Given the description of an element on the screen output the (x, y) to click on. 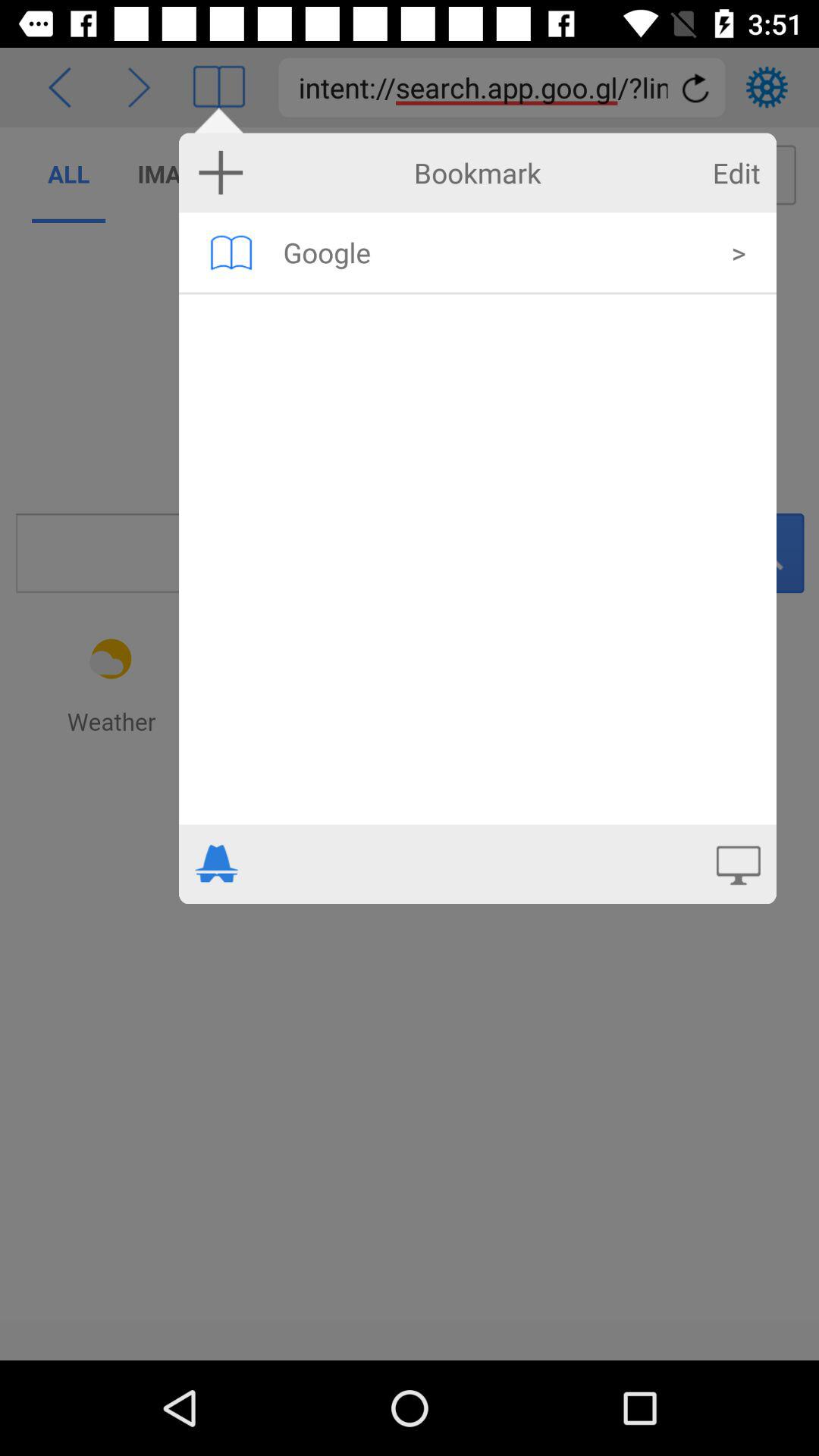
select icon to the left of the google item (231, 252)
